Given the description of an element on the screen output the (x, y) to click on. 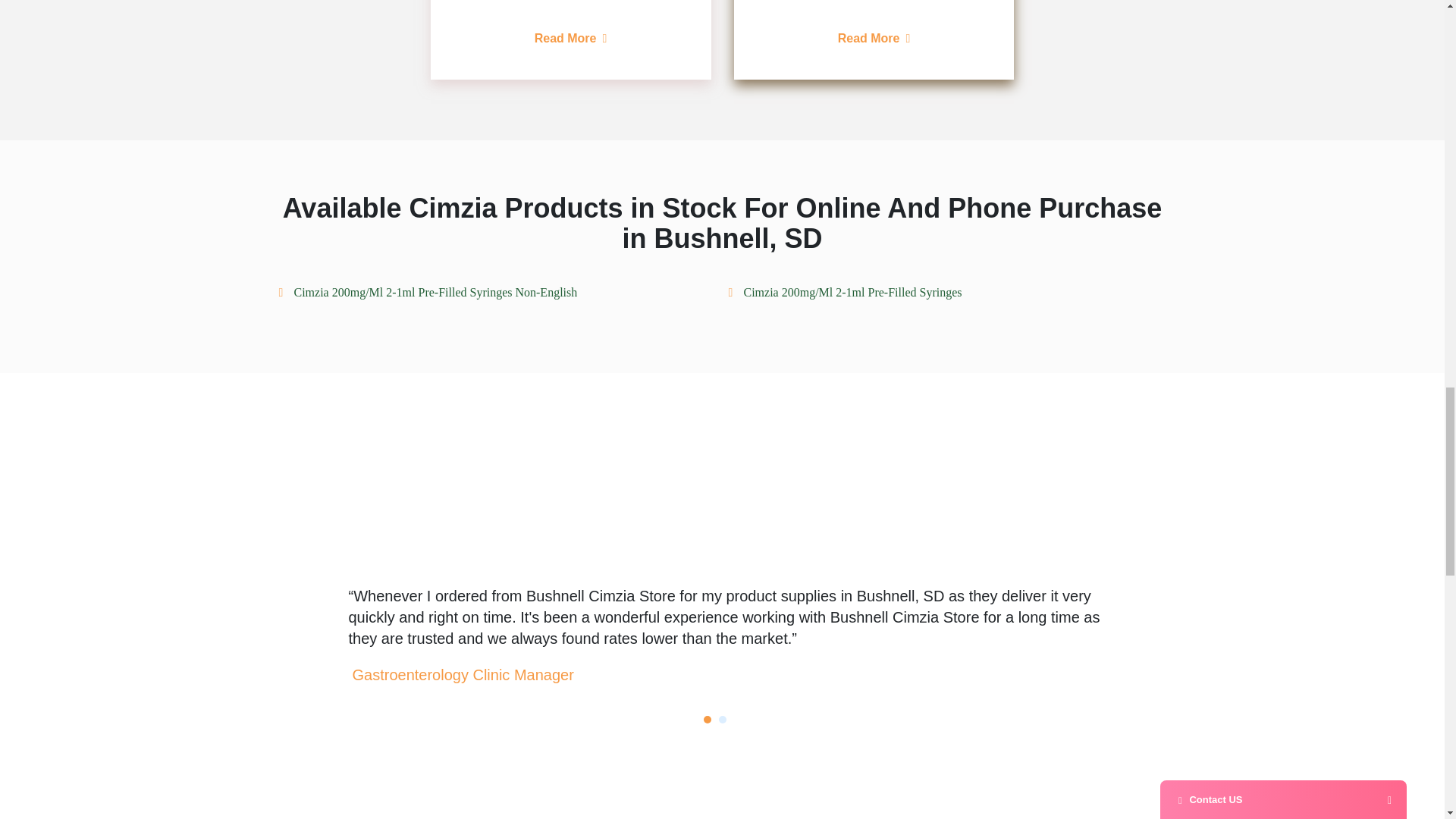
Read More (570, 38)
Read More (874, 38)
